Given the description of an element on the screen output the (x, y) to click on. 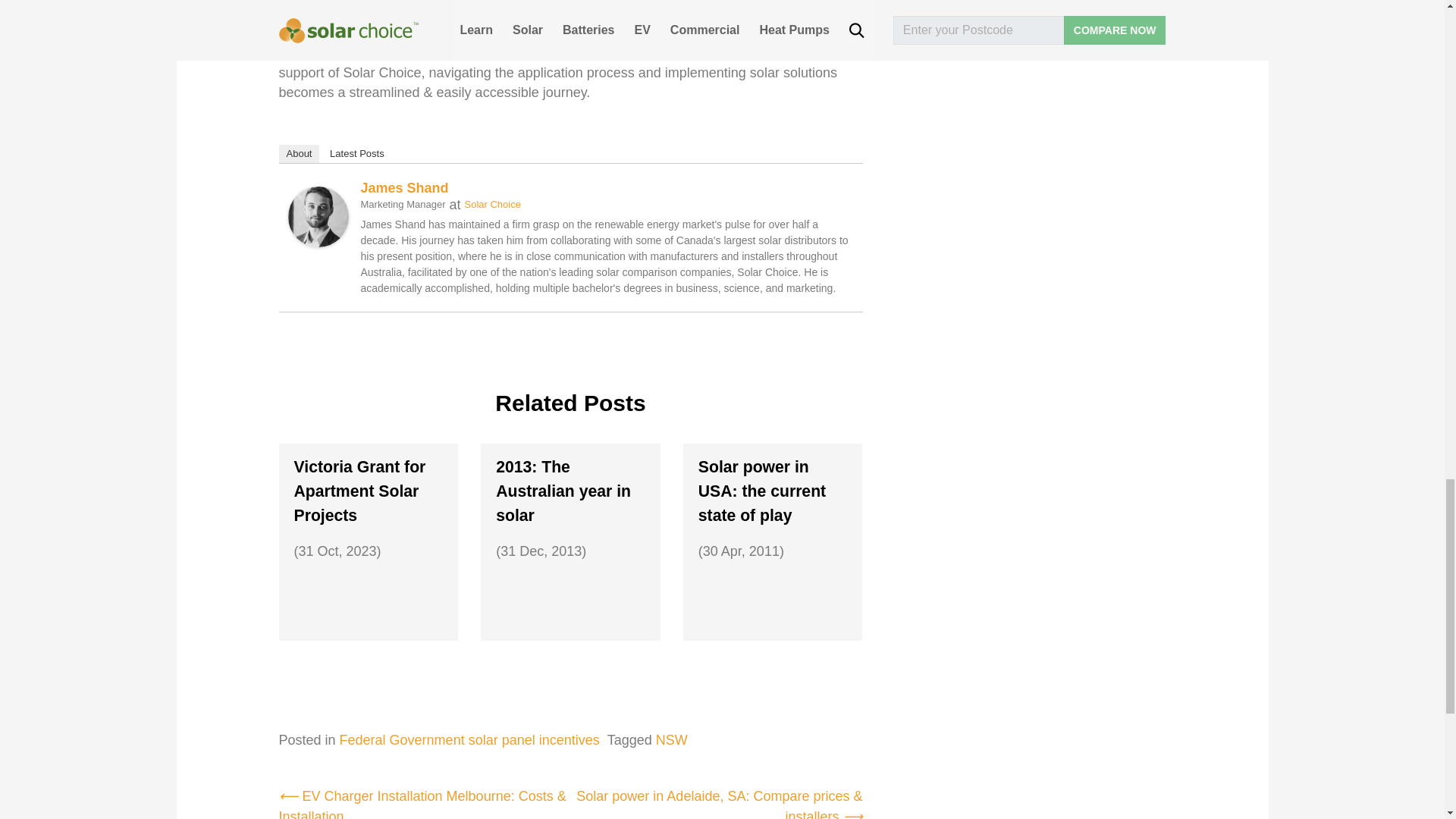
James Shand (318, 205)
2013: The Australian year in solar (570, 490)
Solar power in USA: the current state of play (772, 490)
Victoria Grant for Apartment Solar Projects (369, 490)
